Given the description of an element on the screen output the (x, y) to click on. 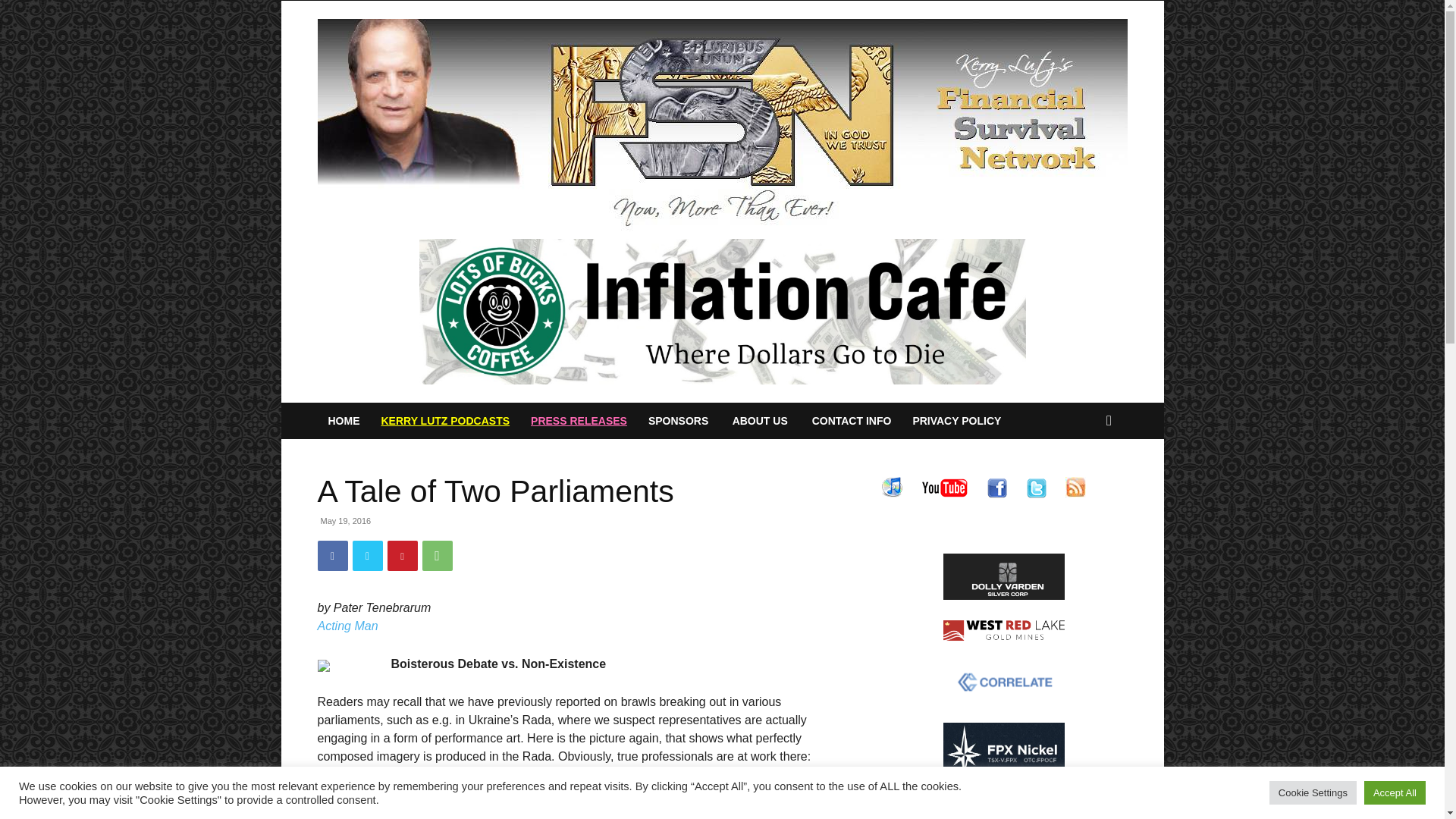
KERRY LUTZ PODCASTS (444, 420)
Acting Man (347, 625)
Search (1085, 481)
PRIVACY POLICY (956, 420)
HOME (343, 420)
PRESS RELEASES (578, 420)
Facebook (332, 555)
Pinterest (401, 555)
CONTACT INFO (852, 420)
Twitter (366, 555)
 ABOUT US  (759, 420)
WhatsApp (436, 555)
SPONSORS (678, 420)
